Given the description of an element on the screen output the (x, y) to click on. 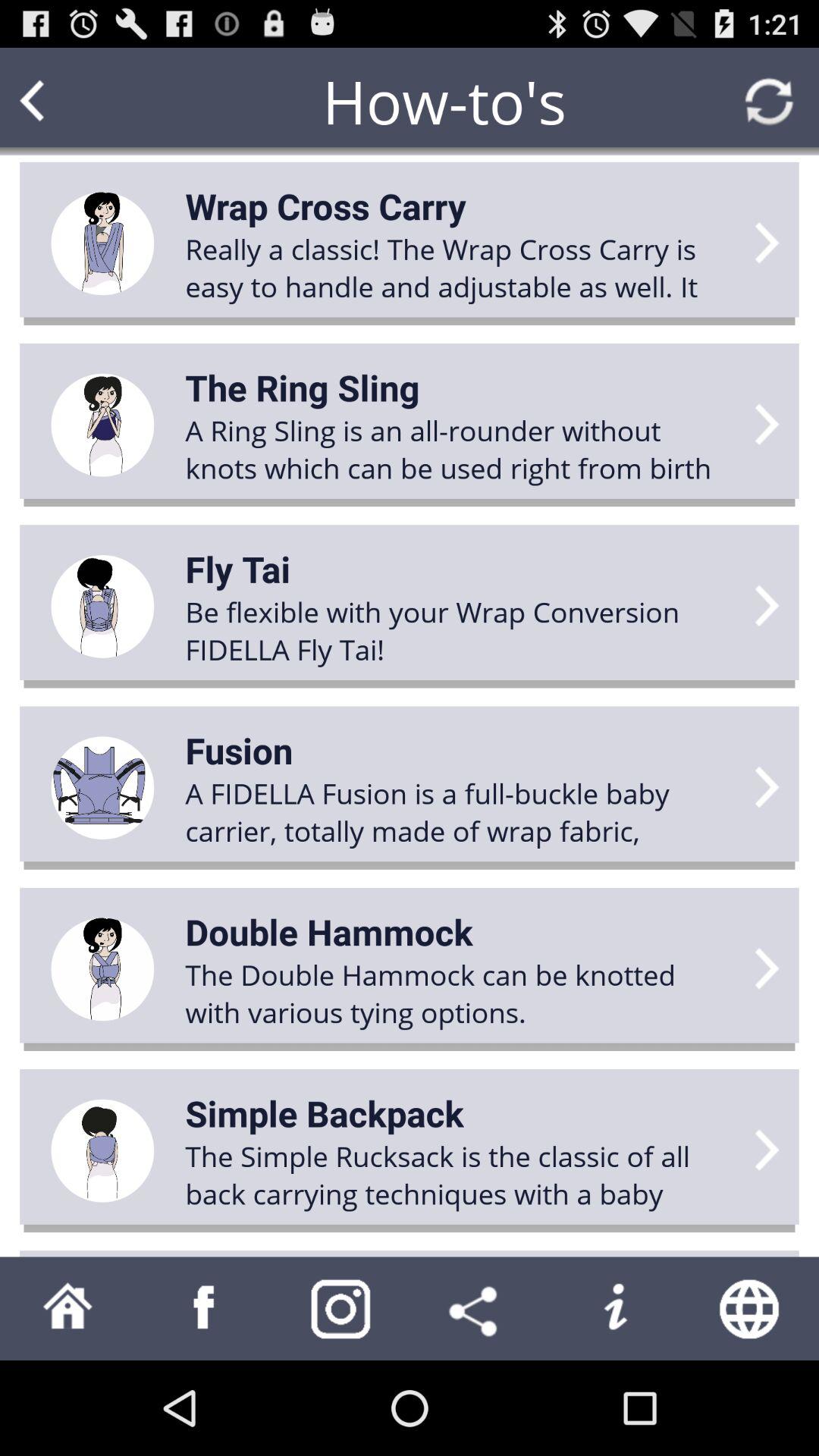
jump until a fidella fusion (460, 811)
